Given the description of an element on the screen output the (x, y) to click on. 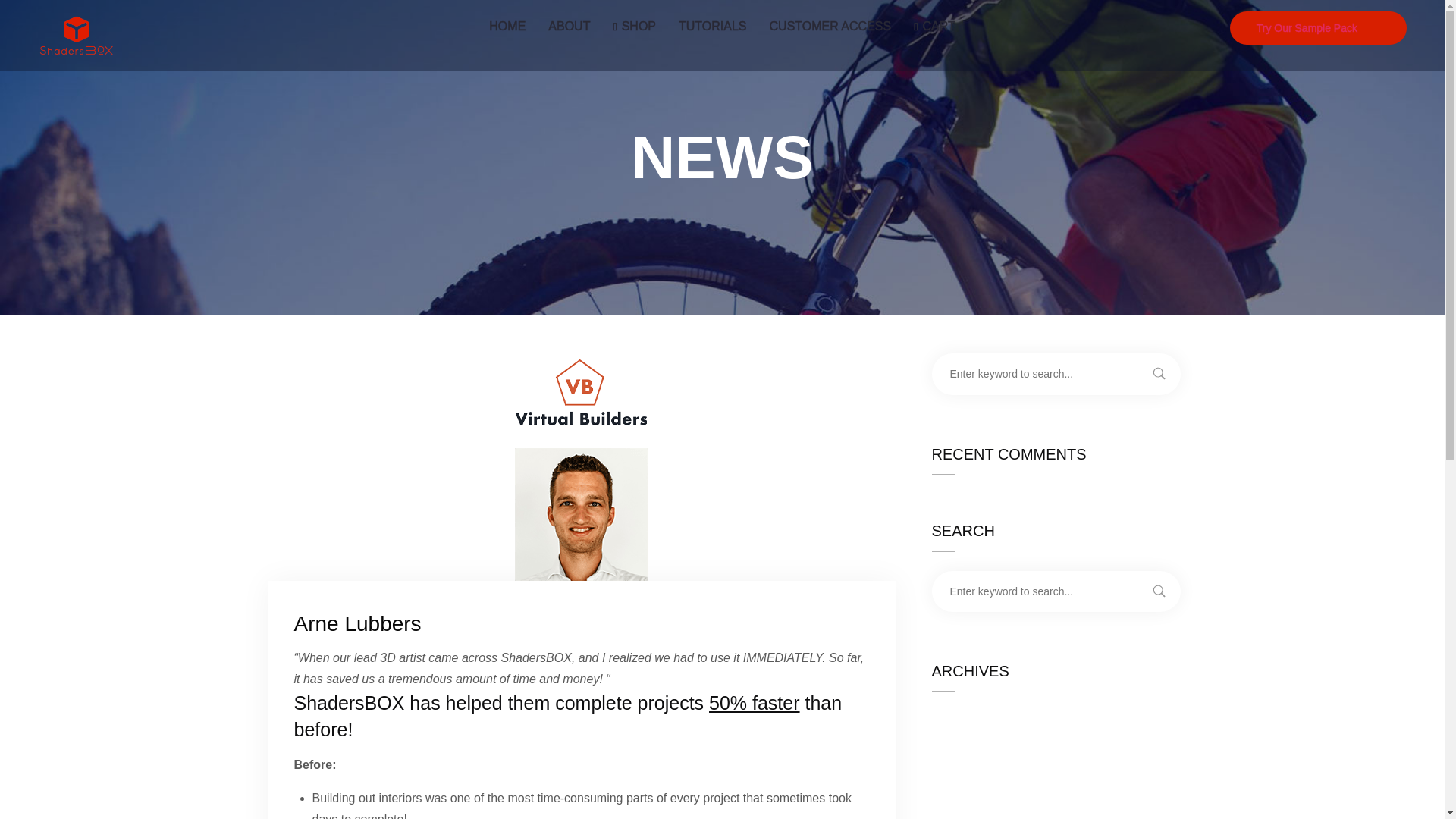
TUTORIALS (712, 26)
CUSTOMER ACCESS (830, 26)
ABOUT (569, 26)
ShadersBOX (76, 35)
CART (934, 26)
SHOP (633, 26)
HOME (507, 26)
Submit (32, 22)
Try Our Sample Pack (1318, 28)
